Given the description of an element on the screen output the (x, y) to click on. 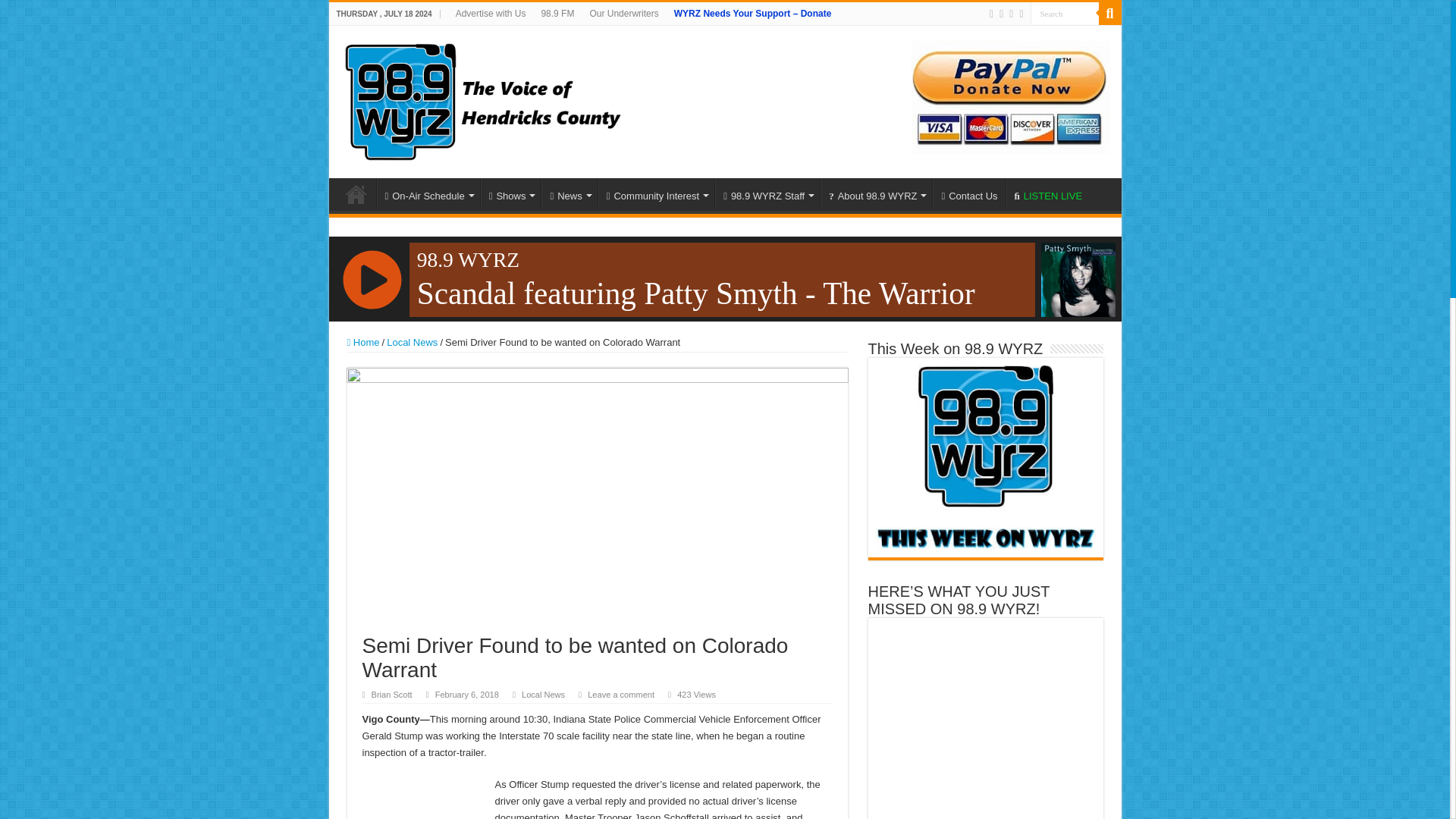
WYRZ.org (481, 99)
Search (1063, 13)
Search (1063, 13)
Search (1063, 13)
